Given the description of an element on the screen output the (x, y) to click on. 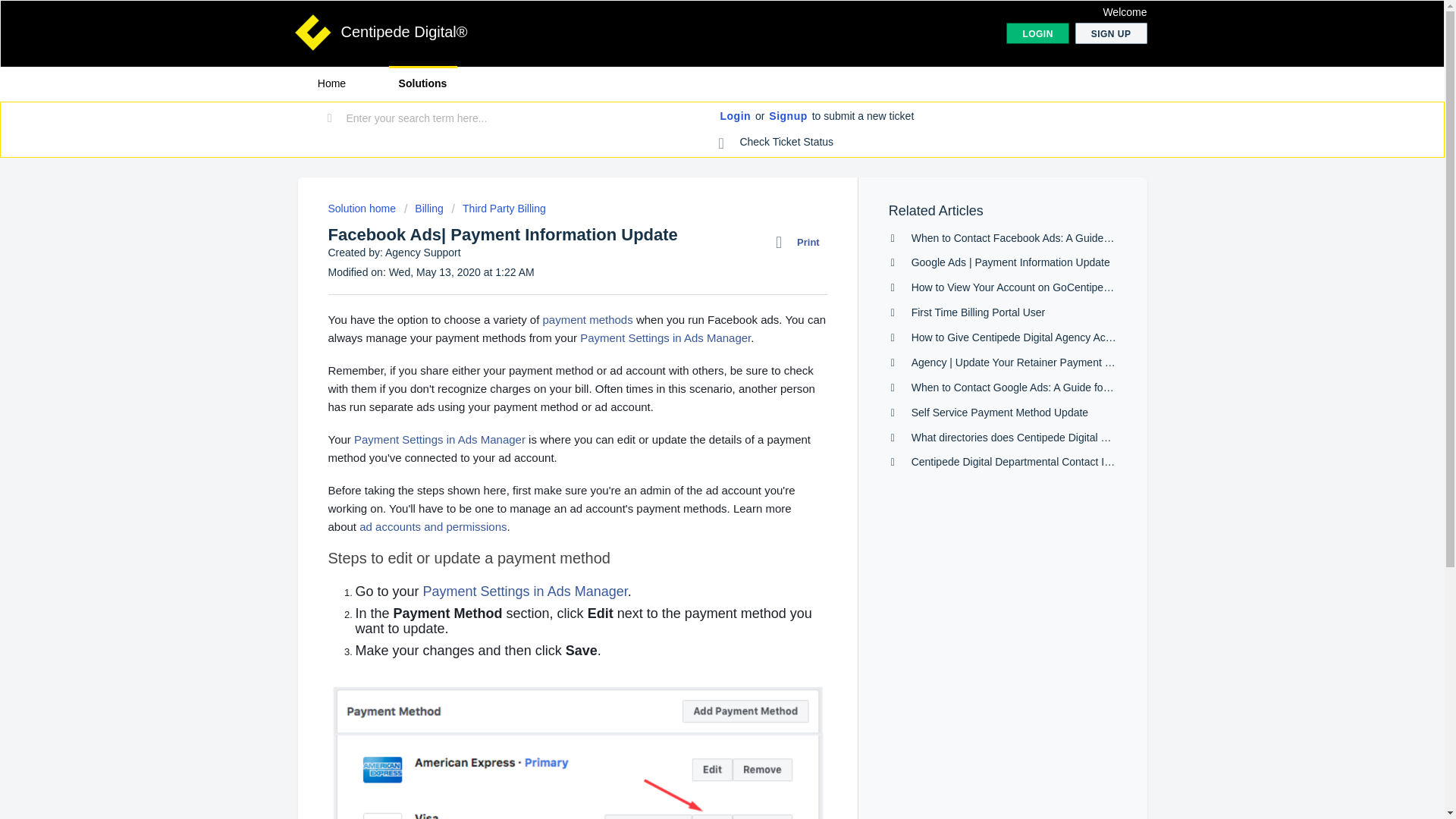
Centipede Digital Departmental Contact Information (1032, 461)
Chat (1406, 779)
Payment Settings in Ads Manager (665, 337)
Payment Settings in Ads Manager (525, 590)
Solution home (362, 208)
SIGN UP (1111, 33)
How to View Your Account on GoCentipede by Centipede Digital (1061, 287)
LOGIN (1037, 33)
Check Ticket Status (776, 142)
Signup (787, 116)
Solutions (422, 83)
Check ticket status (776, 142)
payment methods (586, 318)
